Given the description of an element on the screen output the (x, y) to click on. 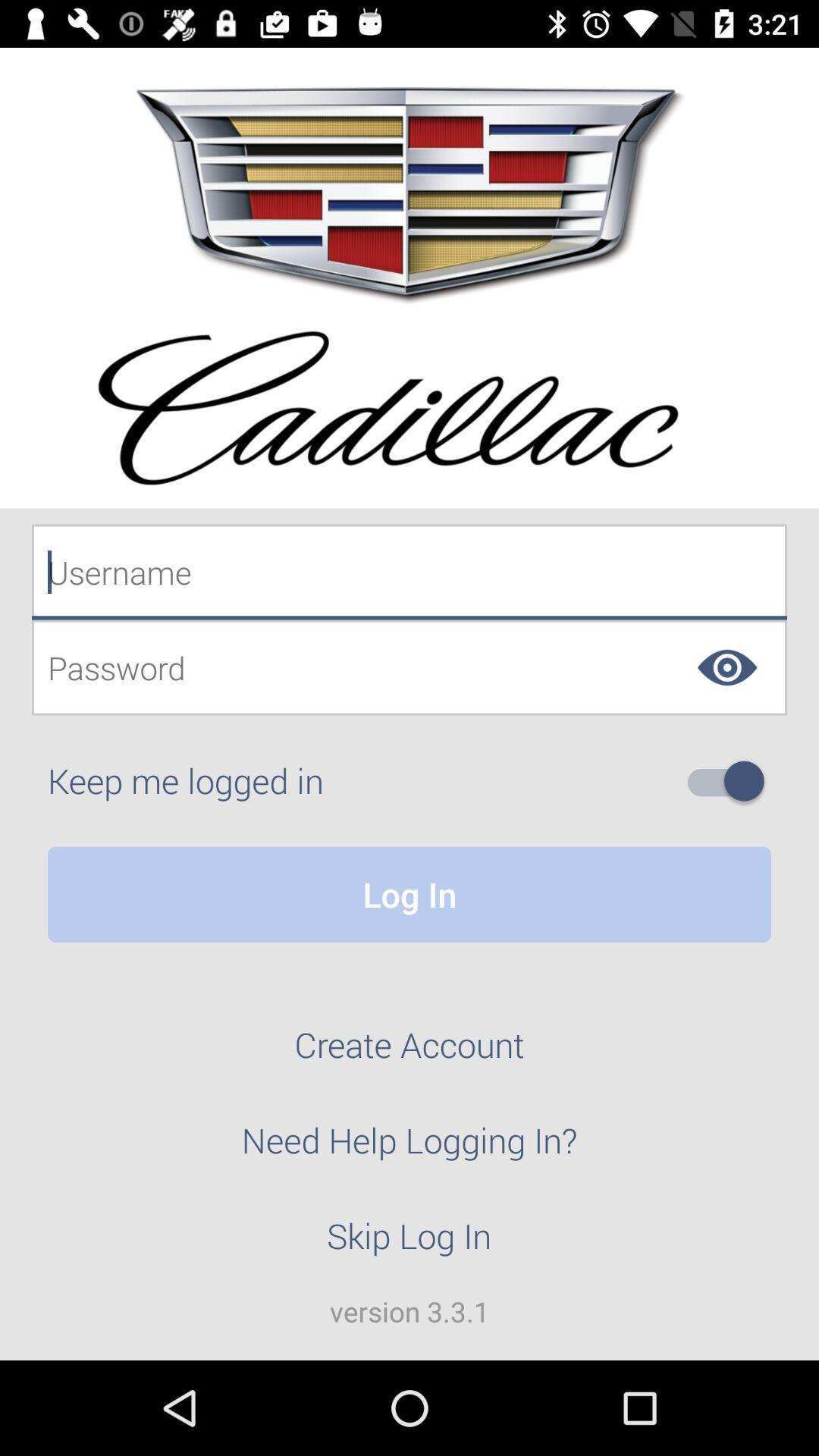
click icon to the right of keep me logged icon (731, 781)
